Given the description of an element on the screen output the (x, y) to click on. 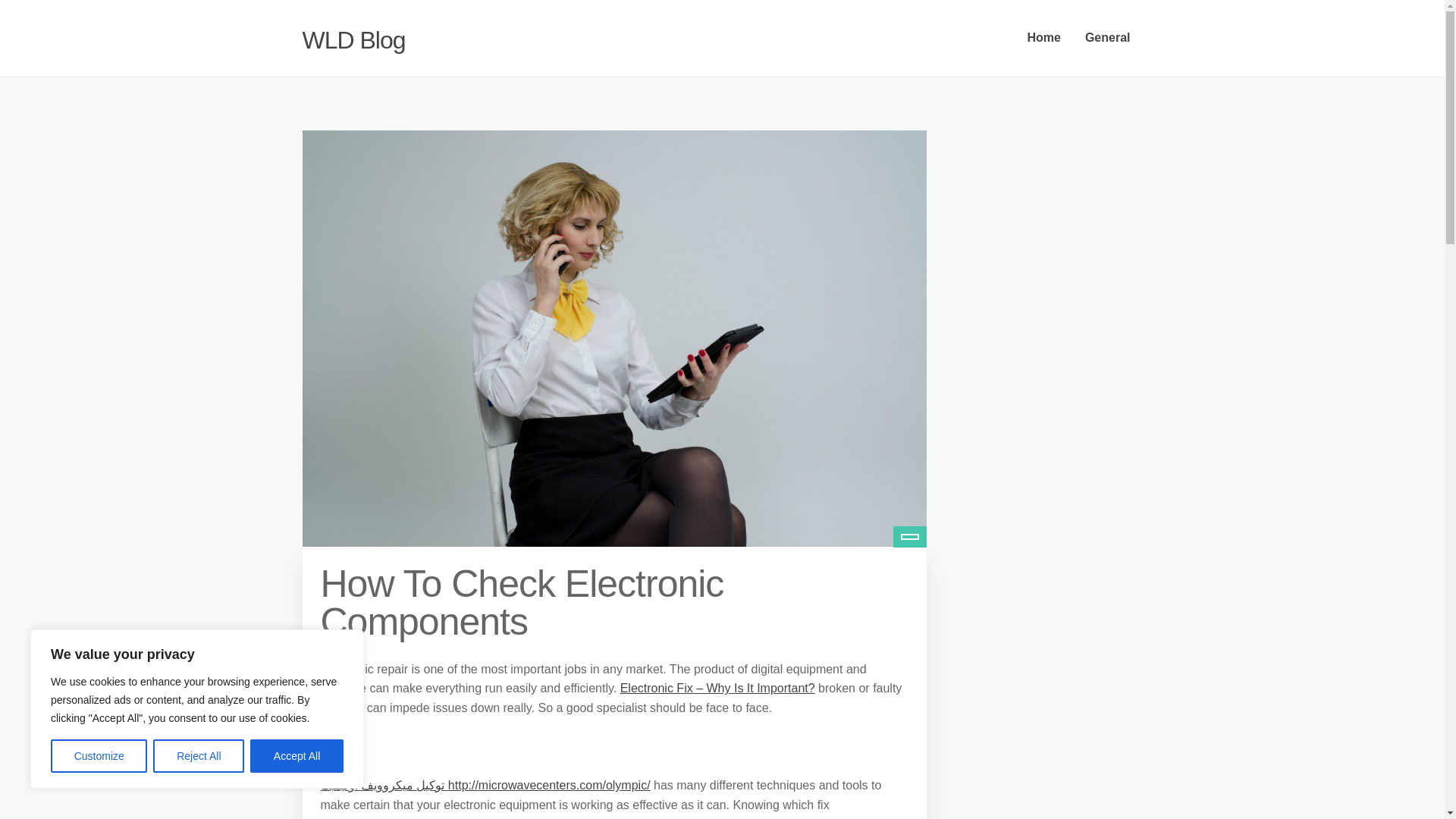
General (1107, 37)
WLD Blog (352, 39)
Customize (98, 756)
Reject All (198, 756)
Home (1042, 37)
Accept All (296, 756)
